Given the description of an element on the screen output the (x, y) to click on. 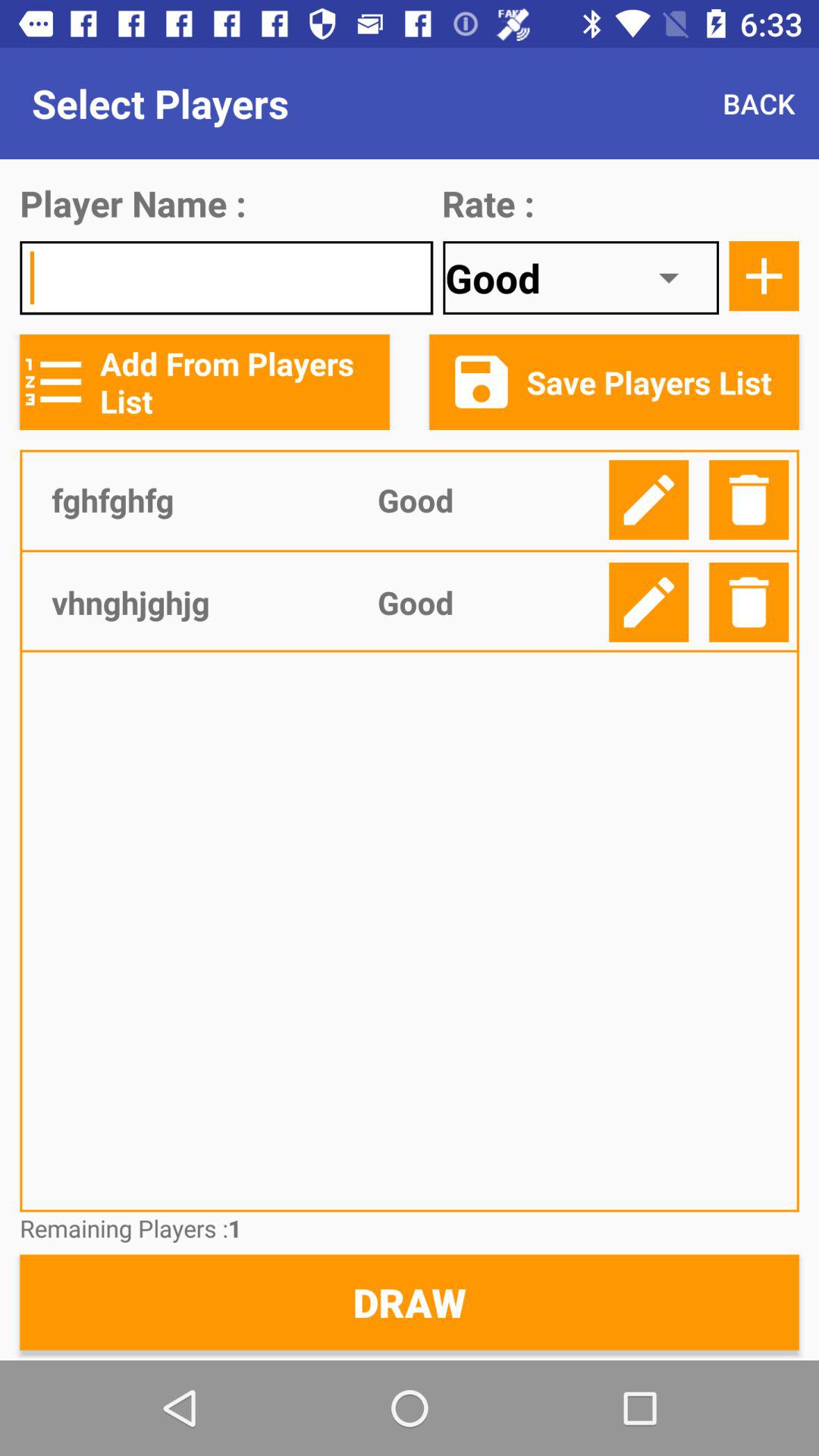
delete player from list (748, 499)
